Given the description of an element on the screen output the (x, y) to click on. 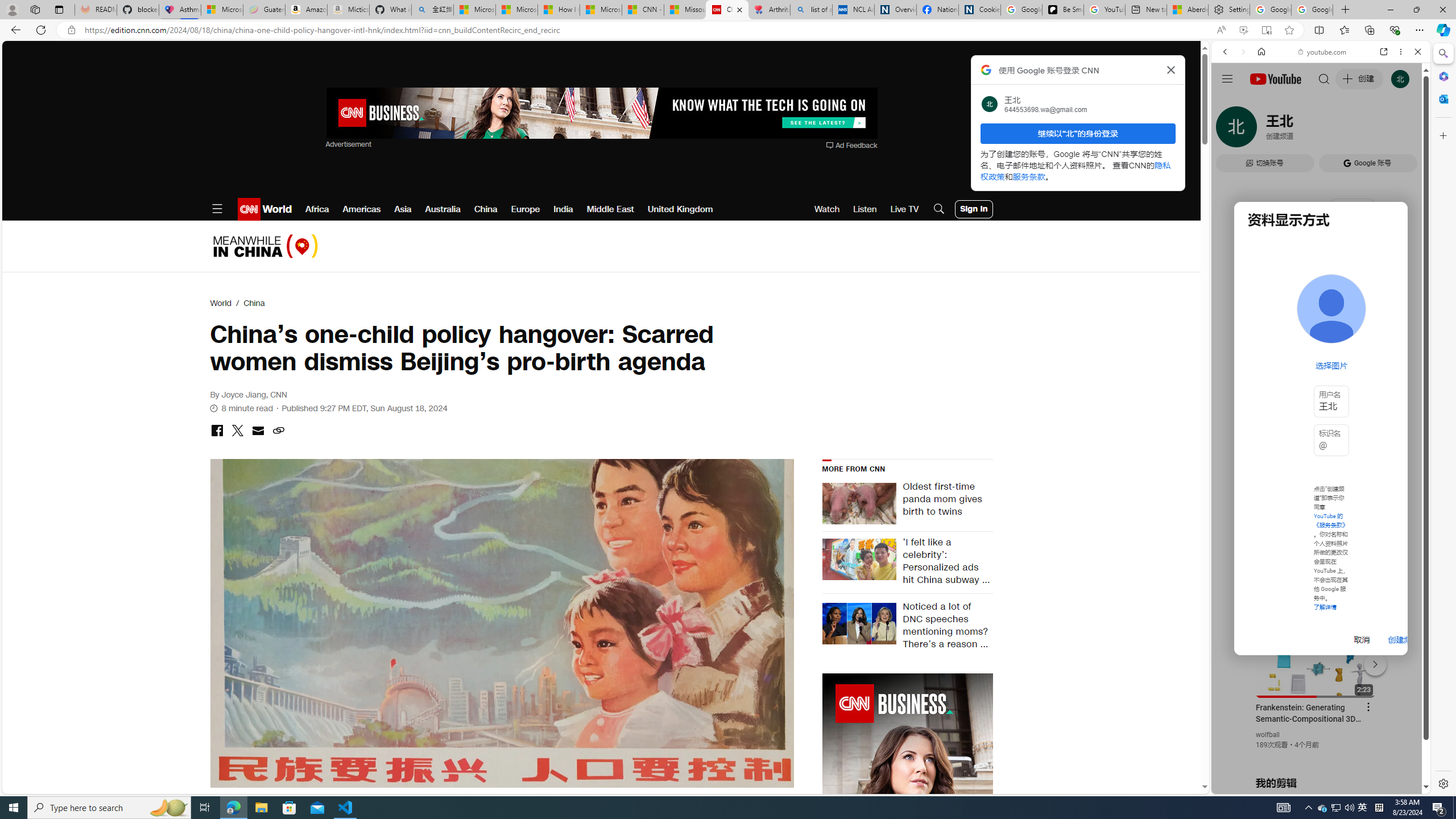
Asia (403, 209)
Google (1266, 331)
YouTube (1315, 655)
